Given the description of an element on the screen output the (x, y) to click on. 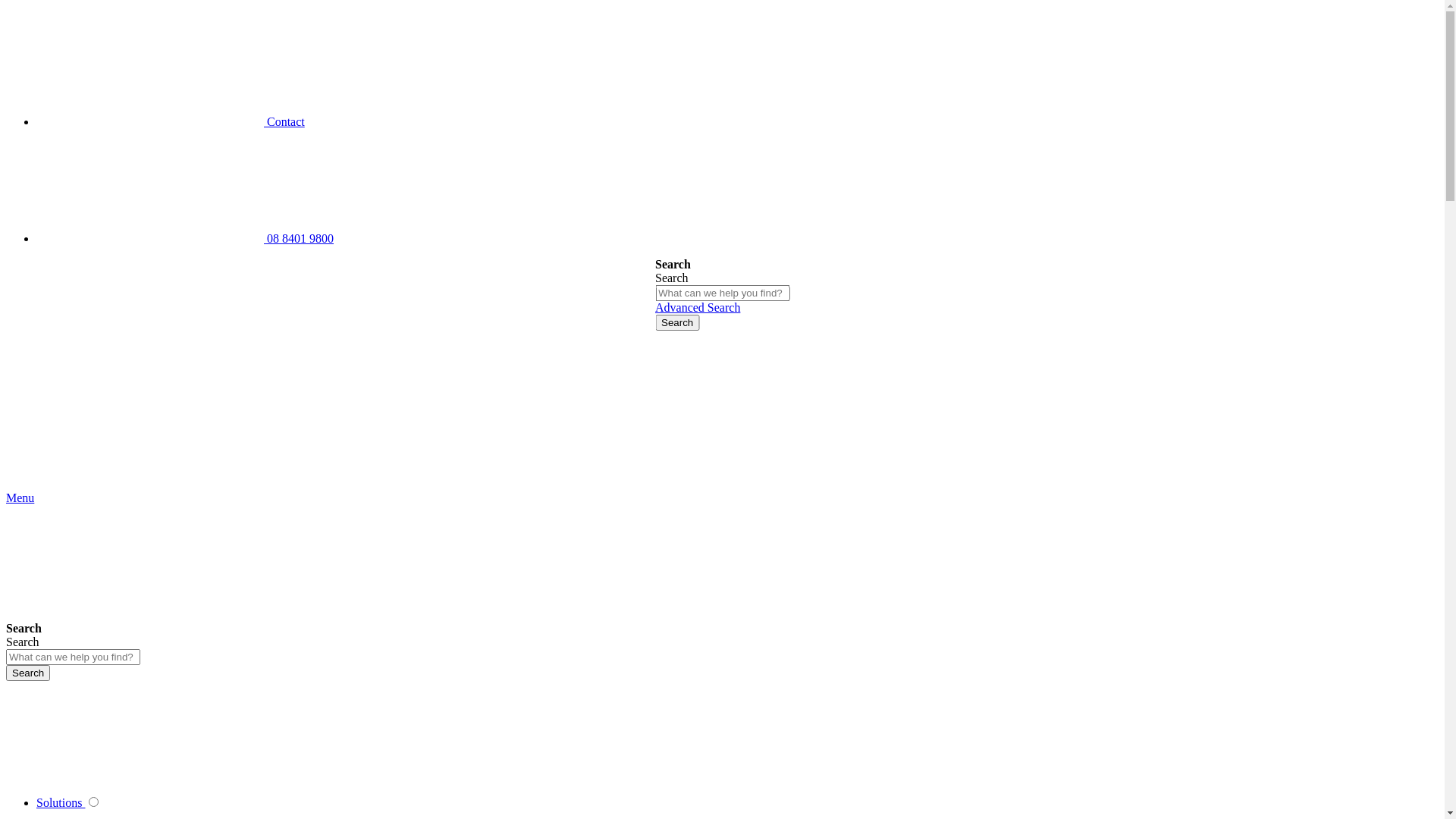
08 8401 9800 Element type: text (184, 238)
Search Element type: text (28, 672)
Menu Element type: text (20, 497)
Advanced Search Element type: text (697, 307)
Solutions Element type: text (60, 802)
Contact Element type: text (170, 121)
Search Element type: text (677, 322)
Hendon Semiconductors Element type: hover (119, 483)
Hendon Semiconductors Element type: hover (119, 431)
